Given the description of an element on the screen output the (x, y) to click on. 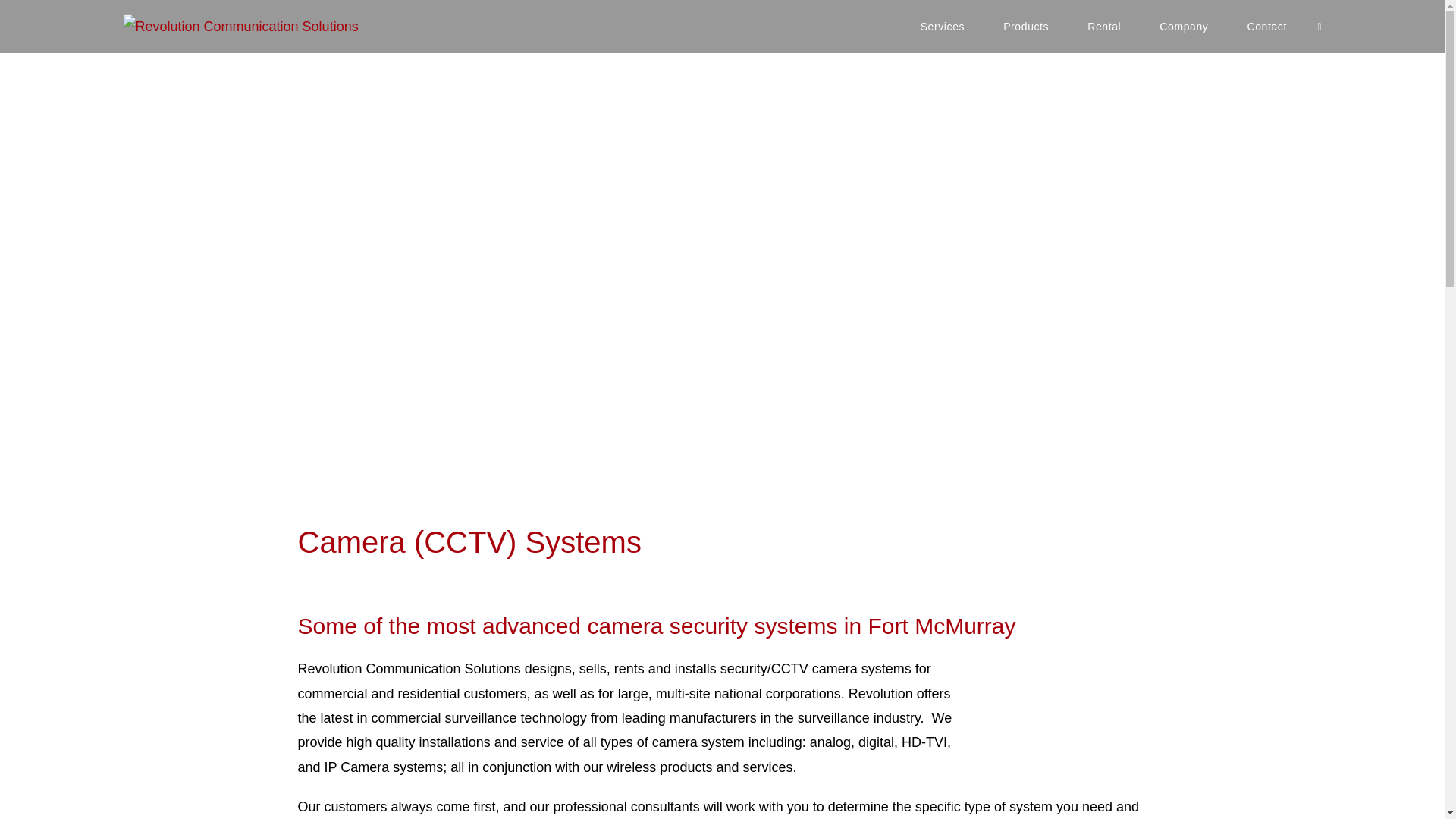
Rental (1104, 26)
Contact (1266, 26)
Products (1026, 26)
Services (942, 26)
Company (1183, 26)
